Given the description of an element on the screen output the (x, y) to click on. 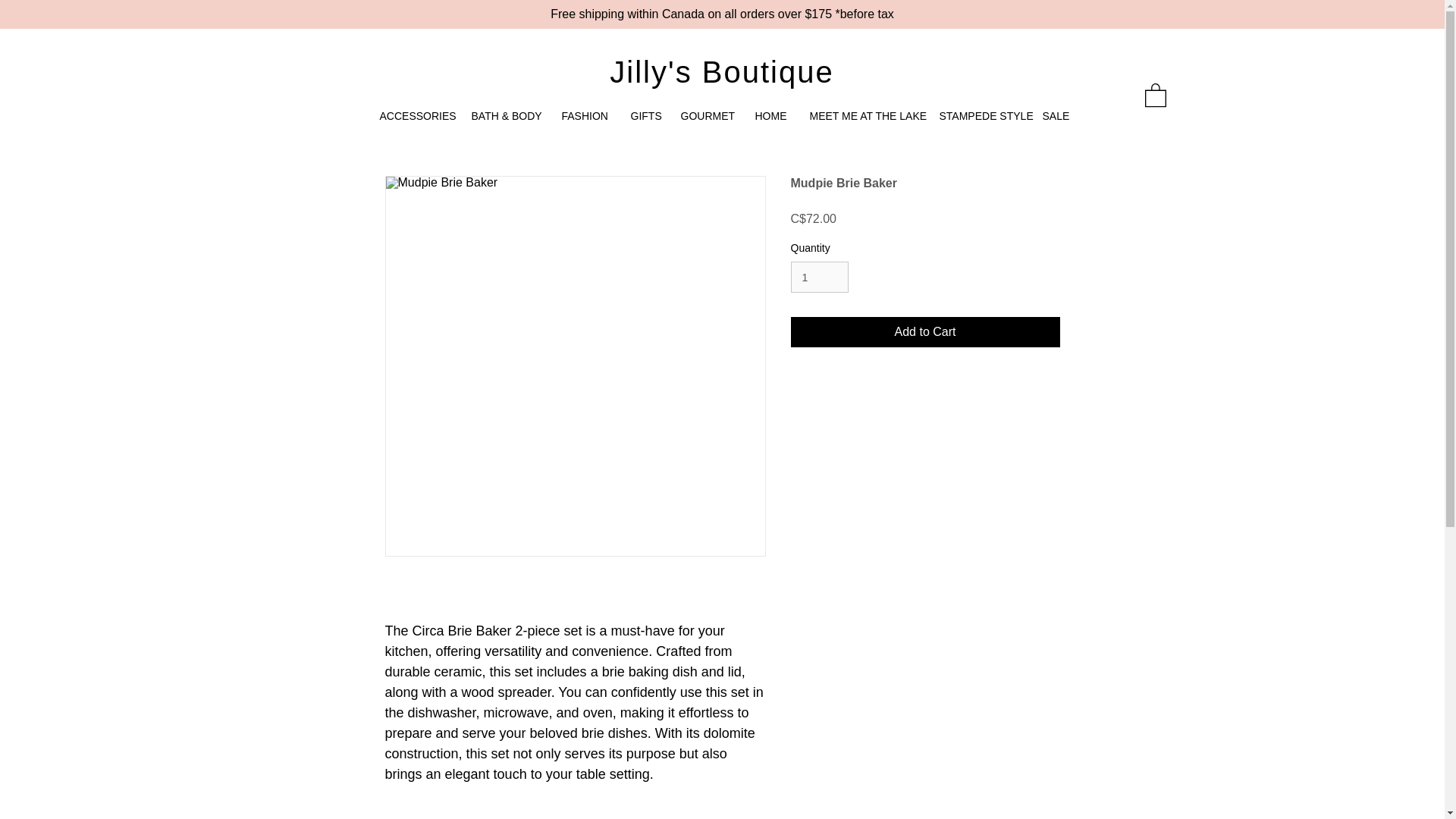
GIFTS (643, 116)
ACCESSORIES (414, 116)
GOURMET (705, 116)
1 (818, 276)
FASHION (585, 116)
Jilly's Boutique (721, 71)
